Given the description of an element on the screen output the (x, y) to click on. 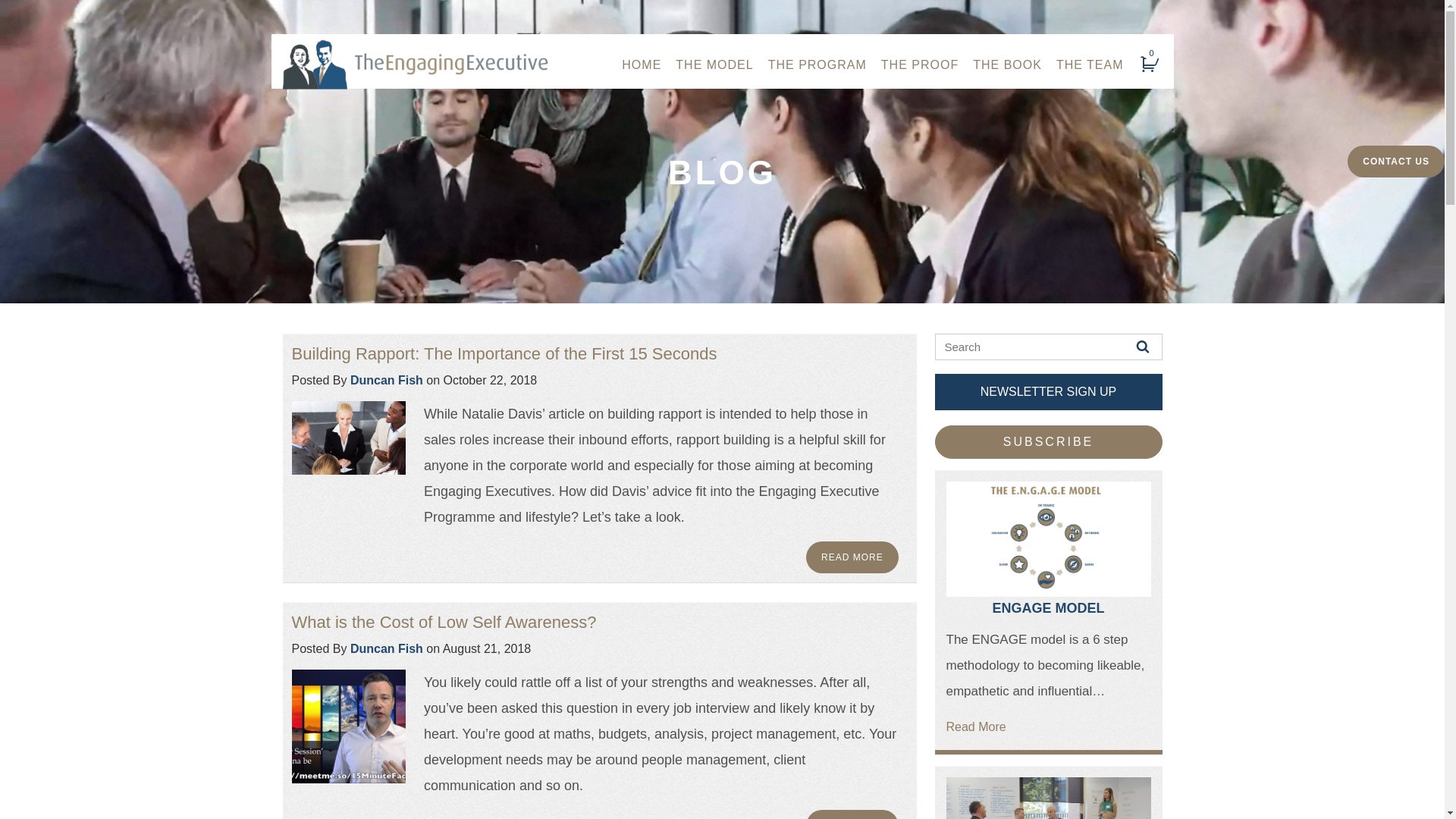
THE BOOK Element type: text (1007, 65)
Read More Element type: text (976, 726)
THE PROOF Element type: text (919, 65)
READ MORE Element type: text (852, 557)
What is the Cost of Low Self Awareness? Element type: text (443, 621)
THE MODEL Element type: text (714, 65)
SUBSCRIBE Element type: text (1047, 441)
Building Rapport: The Importance of the First 15 Seconds Element type: text (503, 353)
THE TEAM Element type: text (1089, 65)
THE PROGRAM Element type: text (817, 65)
HOME Element type: text (641, 65)
0 Element type: text (1151, 64)
CONTACT US Element type: text (1395, 161)
